Given the description of an element on the screen output the (x, y) to click on. 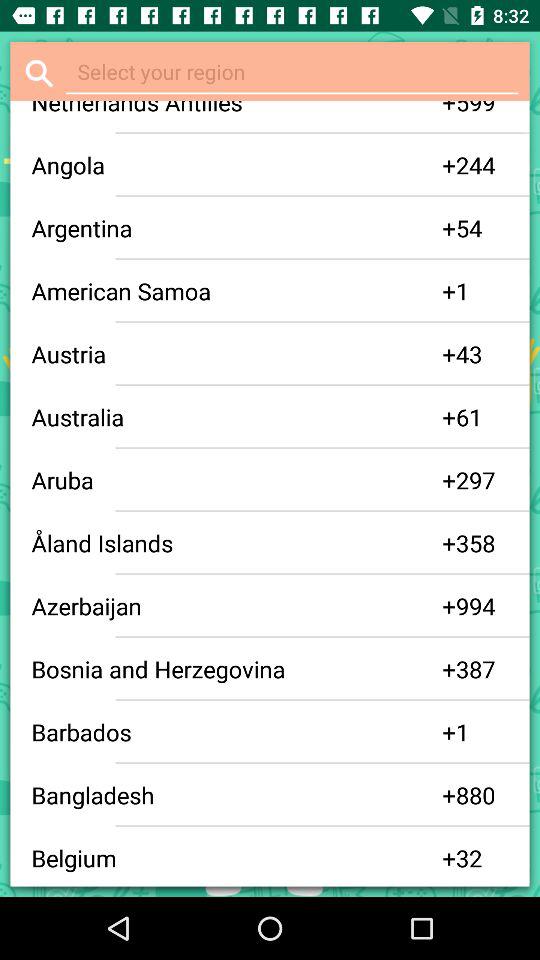
click the item to the right of argentina item (449, 228)
